Given the description of an element on the screen output the (x, y) to click on. 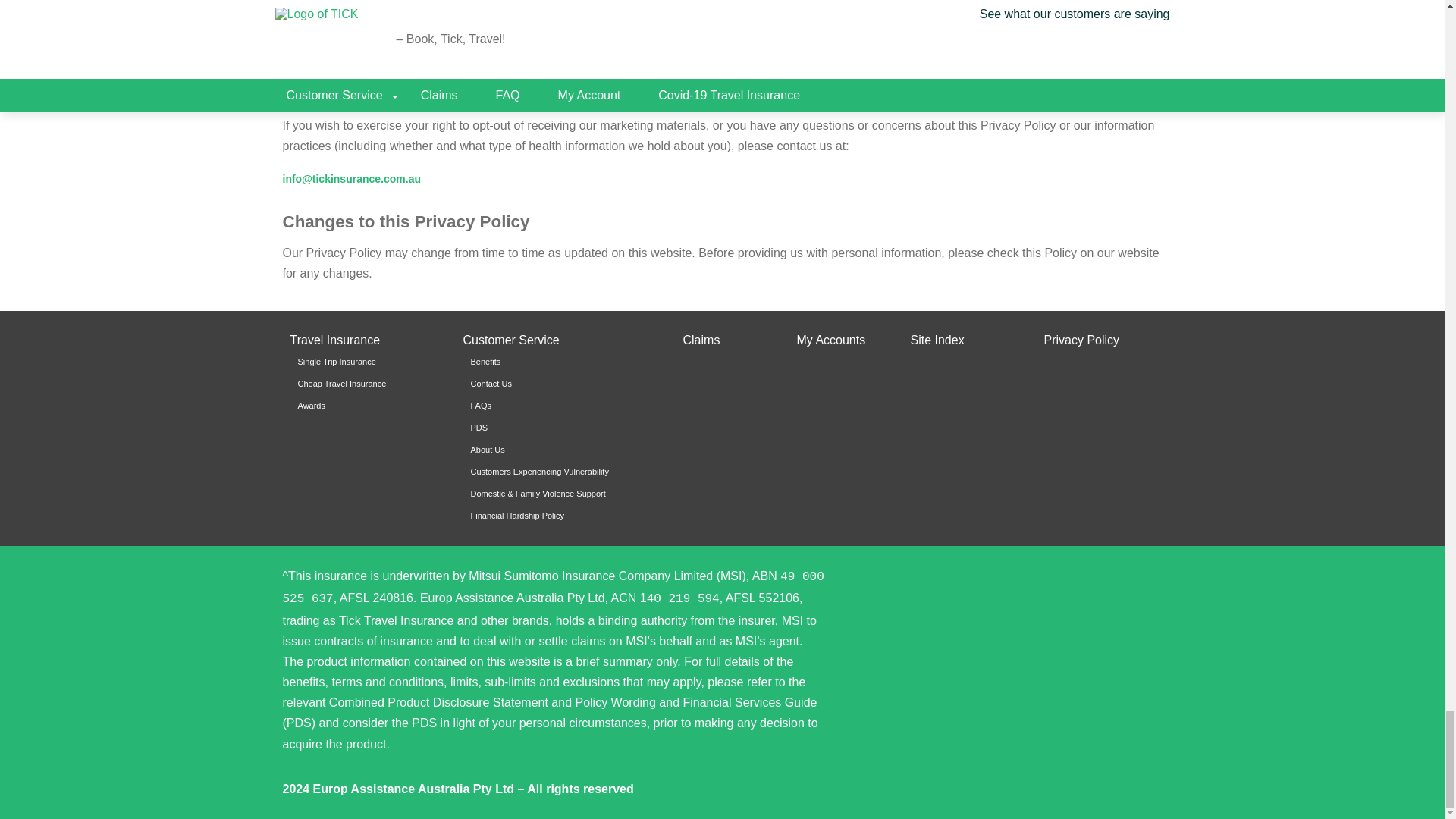
FAQs (561, 405)
Claims (700, 339)
Awards (368, 405)
Site Index (936, 339)
Financial Hardship Policy (561, 515)
PDS (561, 427)
About Us (561, 450)
My Accounts (830, 339)
Benefits (561, 361)
Contact Us (561, 383)
